Given the description of an element on the screen output the (x, y) to click on. 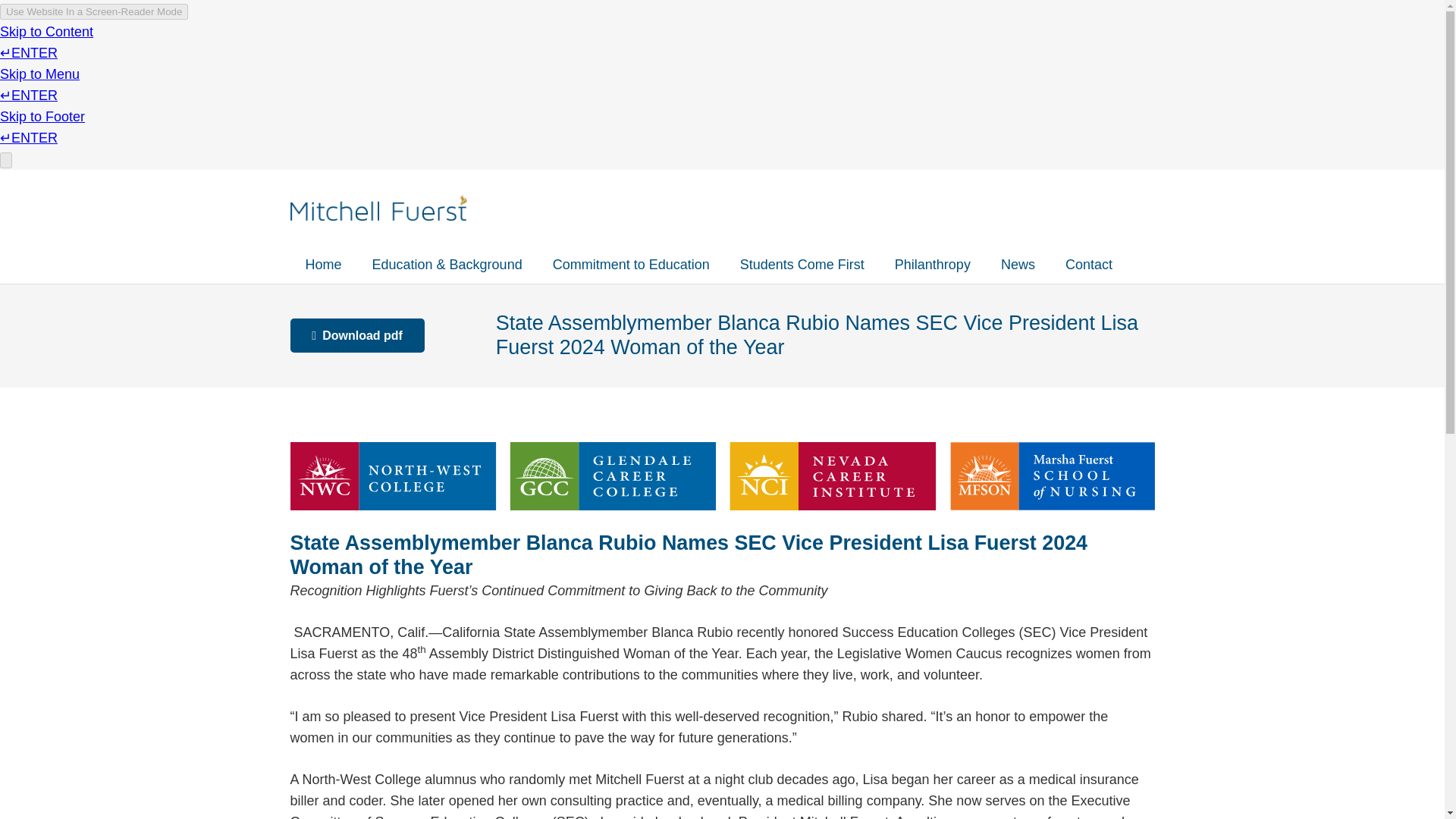
Philanthropy (932, 264)
Commitment to Education (631, 264)
Home (322, 264)
Students Come First (802, 264)
News (1017, 264)
Contact (1087, 264)
Download pdf (356, 335)
